Given the description of an element on the screen output the (x, y) to click on. 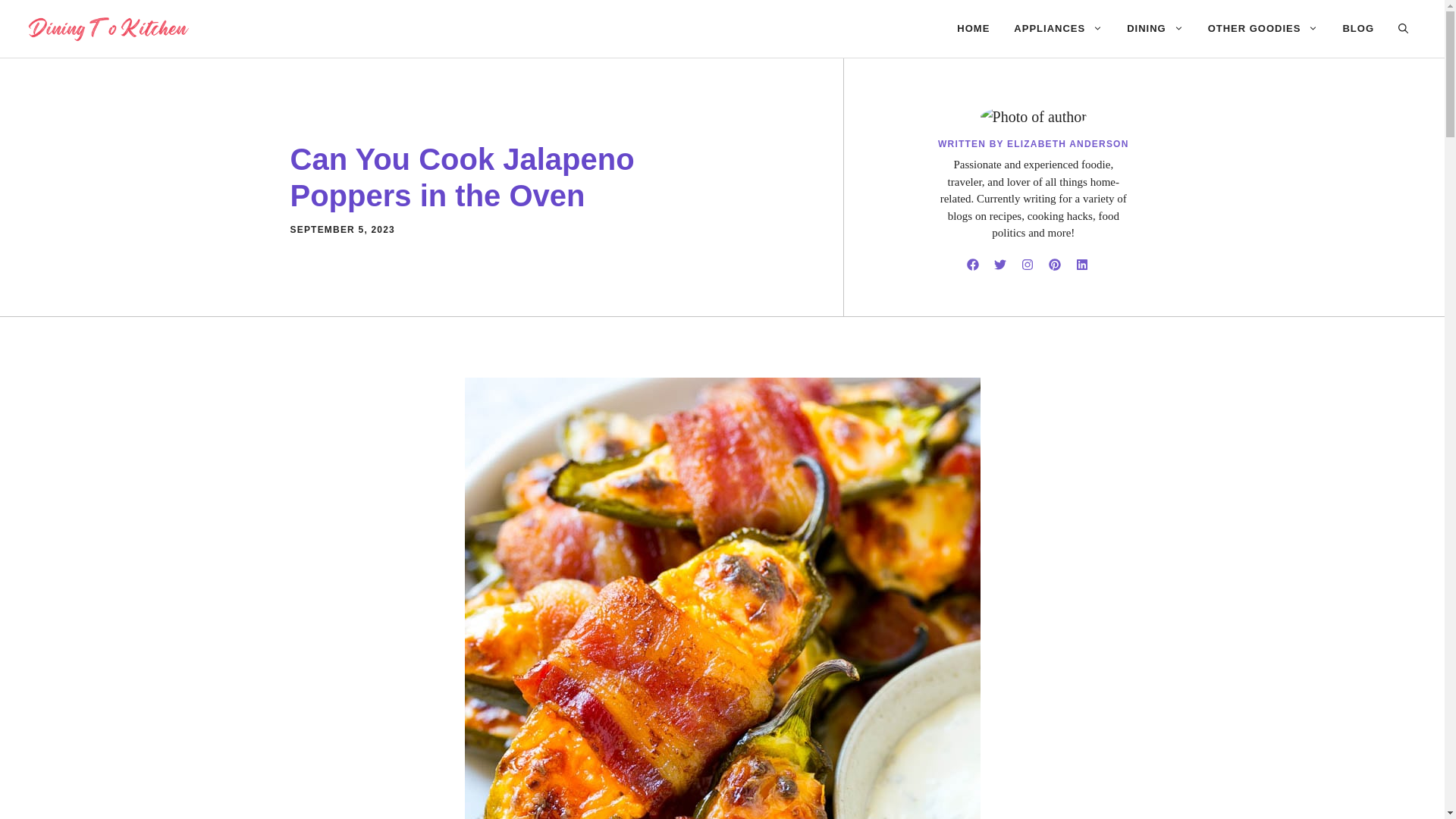
OTHER GOODIES (1262, 28)
APPLIANCES (1058, 28)
HOME (972, 28)
BLOG (1358, 28)
DINING (1155, 28)
